Given the description of an element on the screen output the (x, y) to click on. 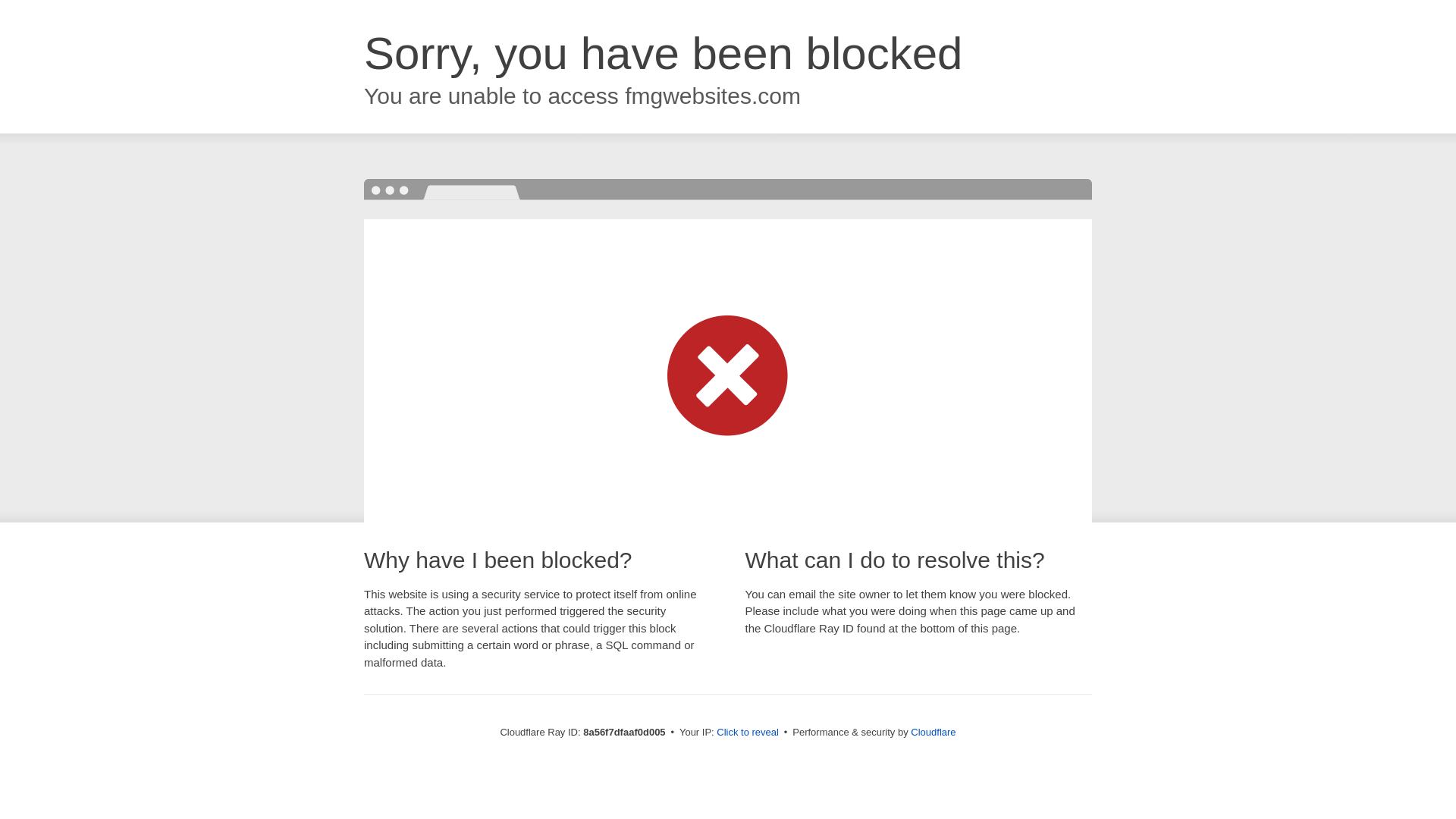
Cloudflare (933, 731)
Click to reveal (747, 732)
